Given the description of an element on the screen output the (x, y) to click on. 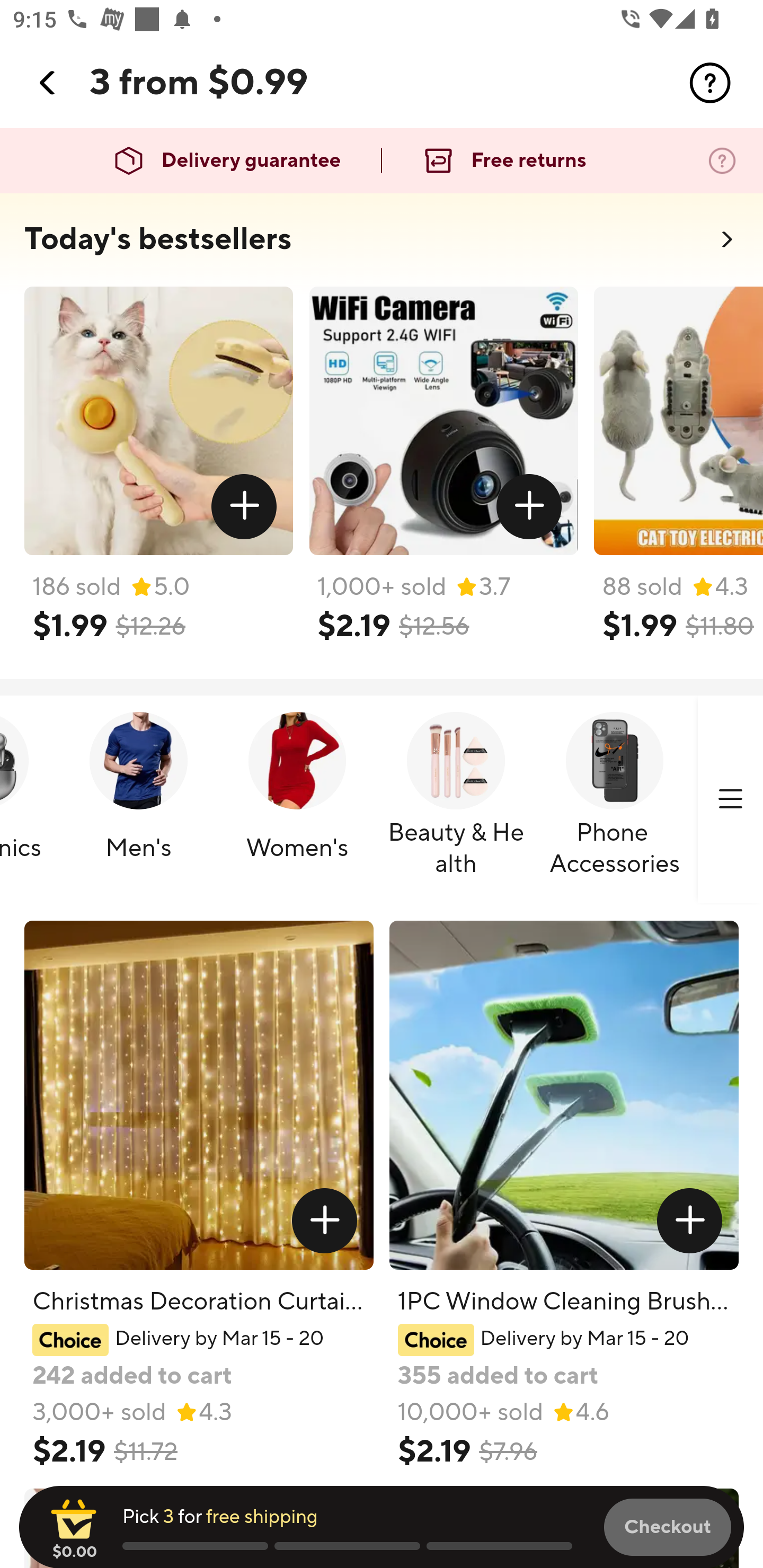
 (710, 82)
 (48, 82)
Today's bestsellers  Today's bestsellers  (381, 244)
Today's bestsellers (157, 239)
 (244, 506)
 (529, 506)
 (730, 799)
200x200.png_ Men's (138, 800)
200x200.png_ Women's (296, 800)
300x300.png_ Beauty & Health (455, 800)
300x300.png_ Phone Accessories (613, 800)
 (323, 1220)
 (689, 1220)
